Given the description of an element on the screen output the (x, y) to click on. 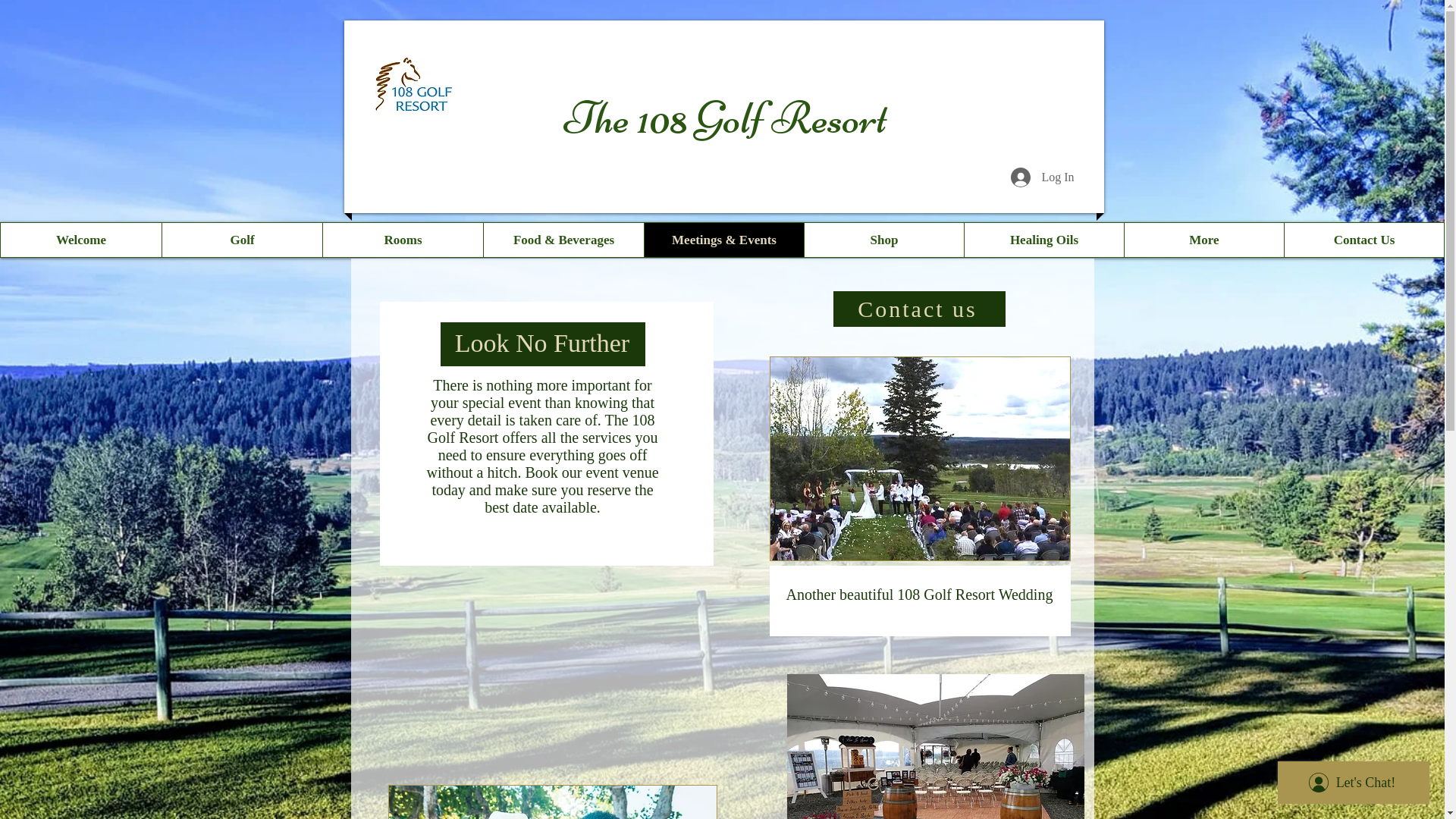
Contact Us Element type: text (1363, 239)
Log In Element type: text (1042, 177)
Rooms Element type: text (402, 239)
Food & Beverages Element type: text (563, 239)
Healing Oils Element type: text (1043, 239)
More Element type: text (1203, 239)
Welcome Element type: text (80, 239)
Golf Element type: text (241, 239)
Meetings & Events Element type: text (723, 239)
Shop Element type: text (883, 239)
Contact us Element type: text (918, 308)
